Given the description of an element on the screen output the (x, y) to click on. 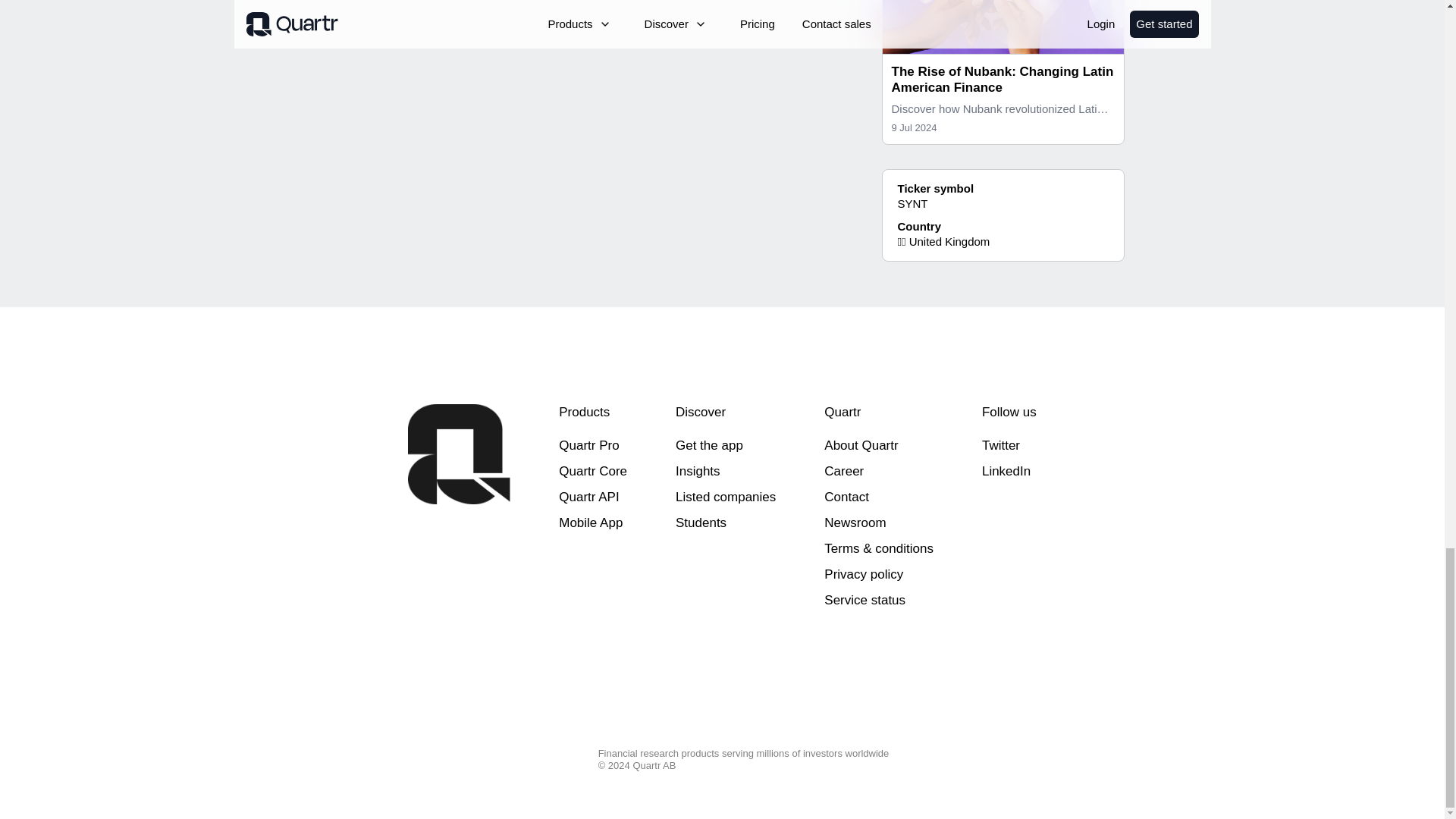
Quartr API (588, 496)
Quartr Core (593, 471)
Quartr Pro (588, 445)
